Given the description of an element on the screen output the (x, y) to click on. 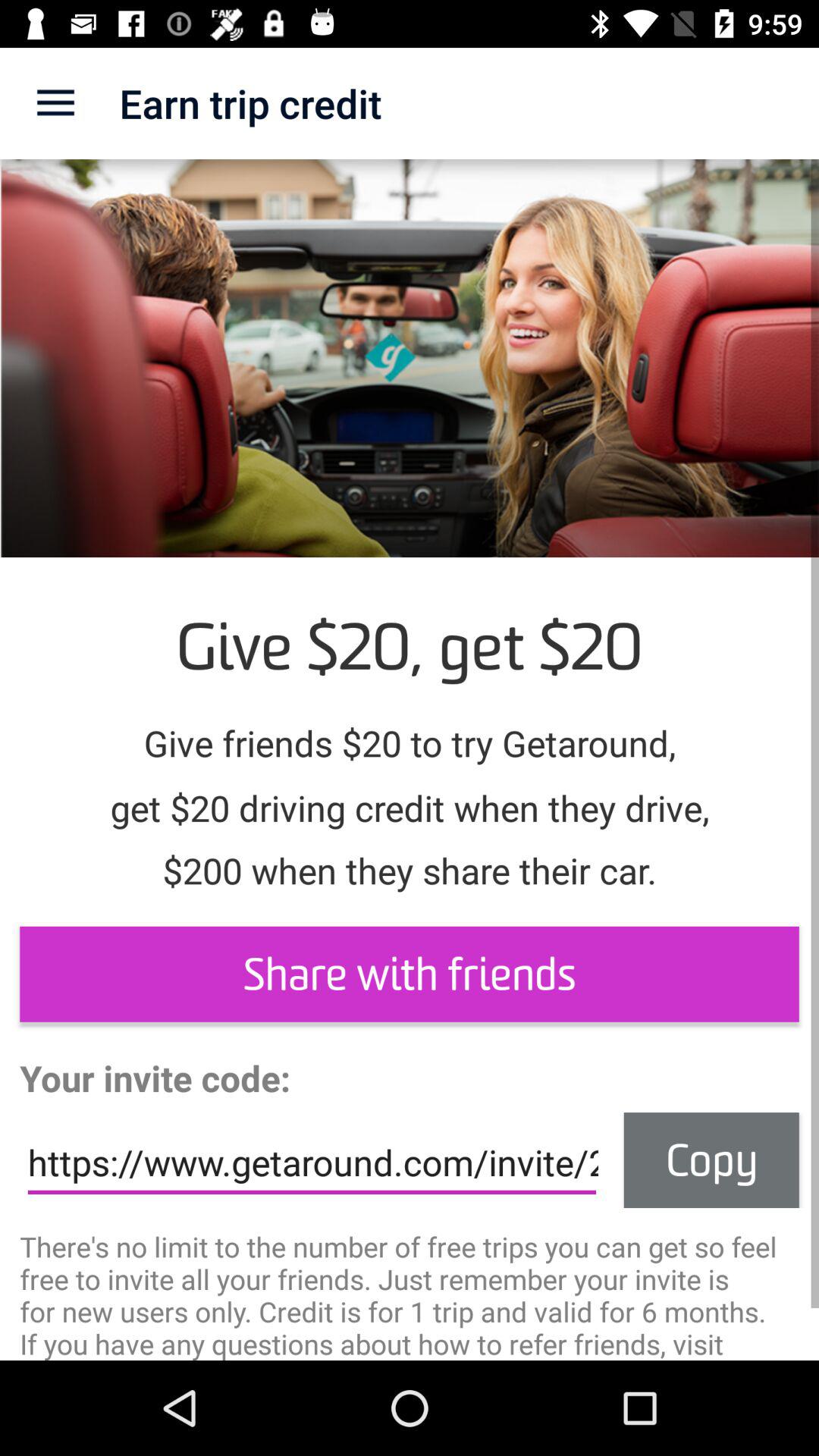
click the app next to the earn trip credit item (55, 103)
